Given the description of an element on the screen output the (x, y) to click on. 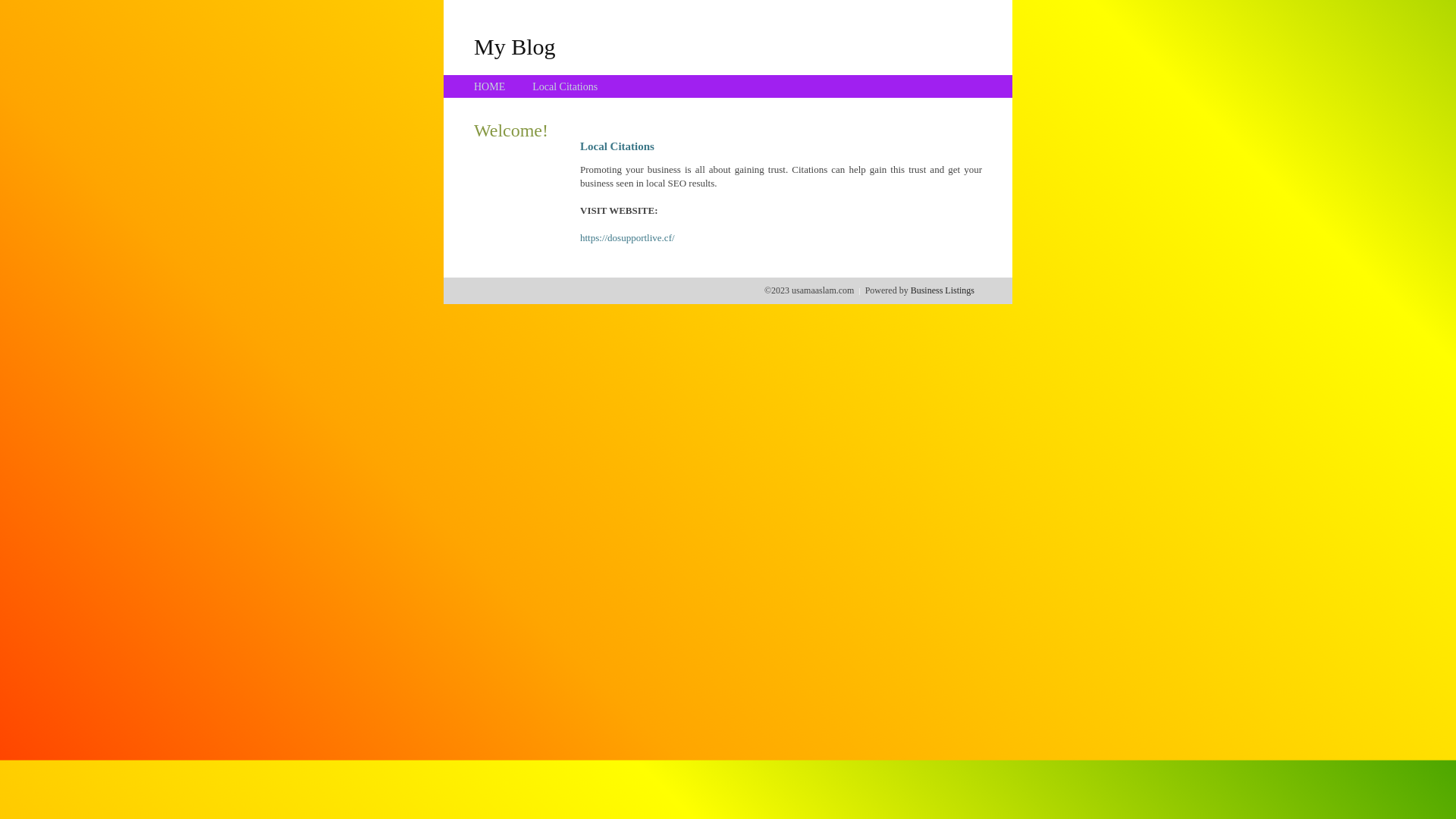
Local Citations Element type: text (564, 86)
Business Listings Element type: text (942, 290)
https://dosupportlive.cf/ Element type: text (627, 237)
HOME Element type: text (489, 86)
My Blog Element type: text (514, 46)
